Given the description of an element on the screen output the (x, y) to click on. 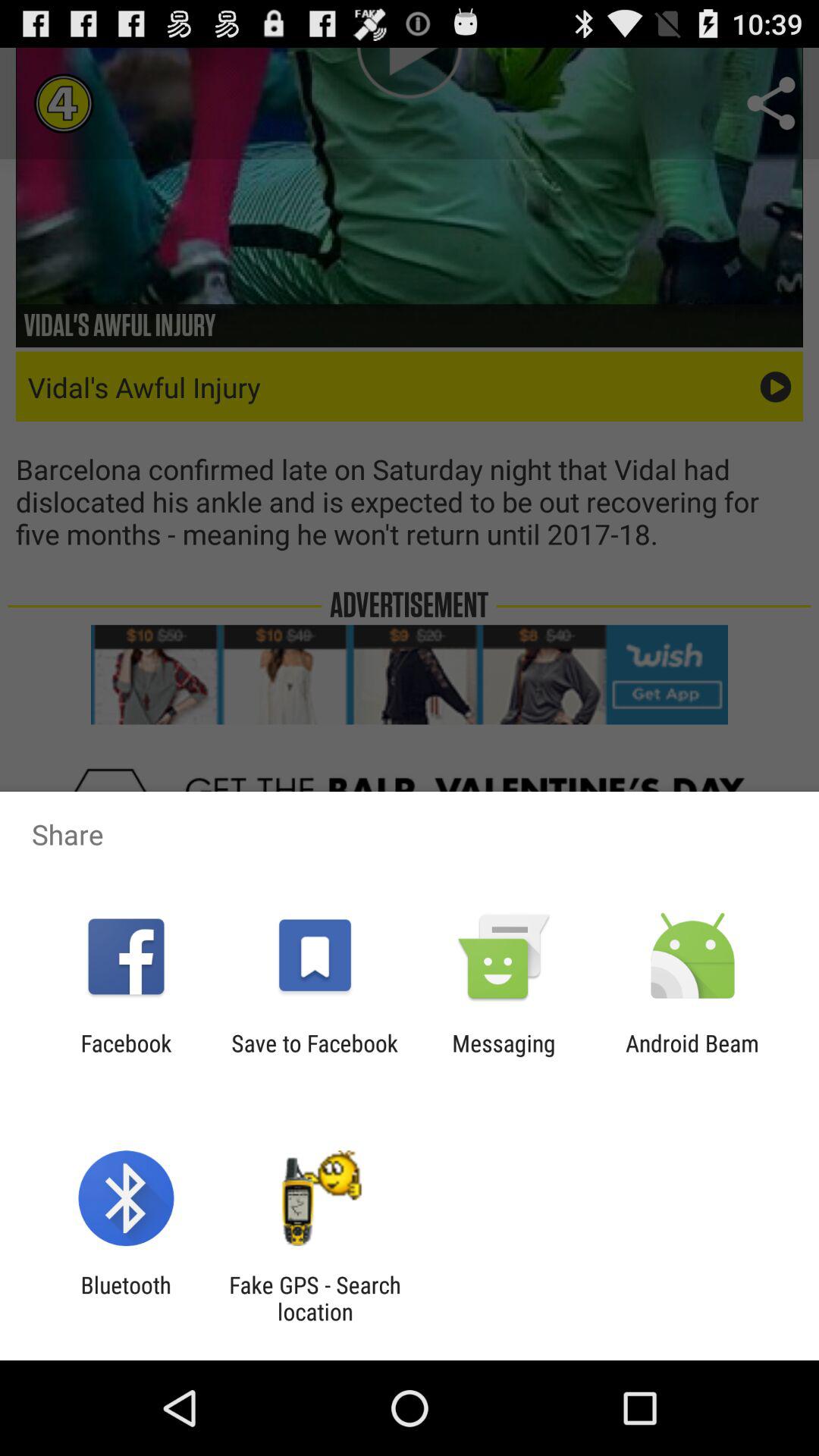
press item to the right of the messaging app (692, 1056)
